Given the description of an element on the screen output the (x, y) to click on. 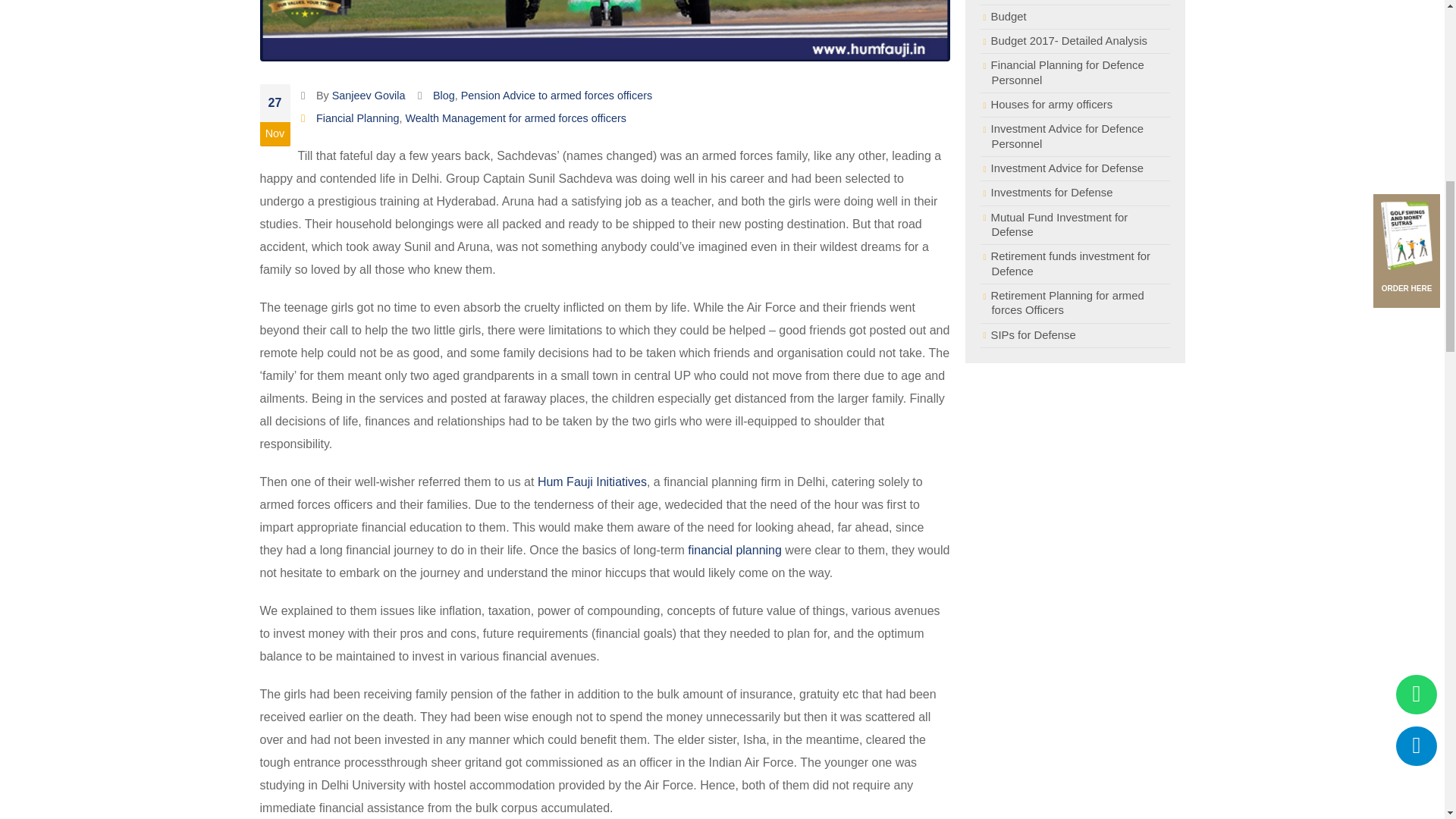
Posts by Sanjeev Govila (368, 95)
